Given the description of an element on the screen output the (x, y) to click on. 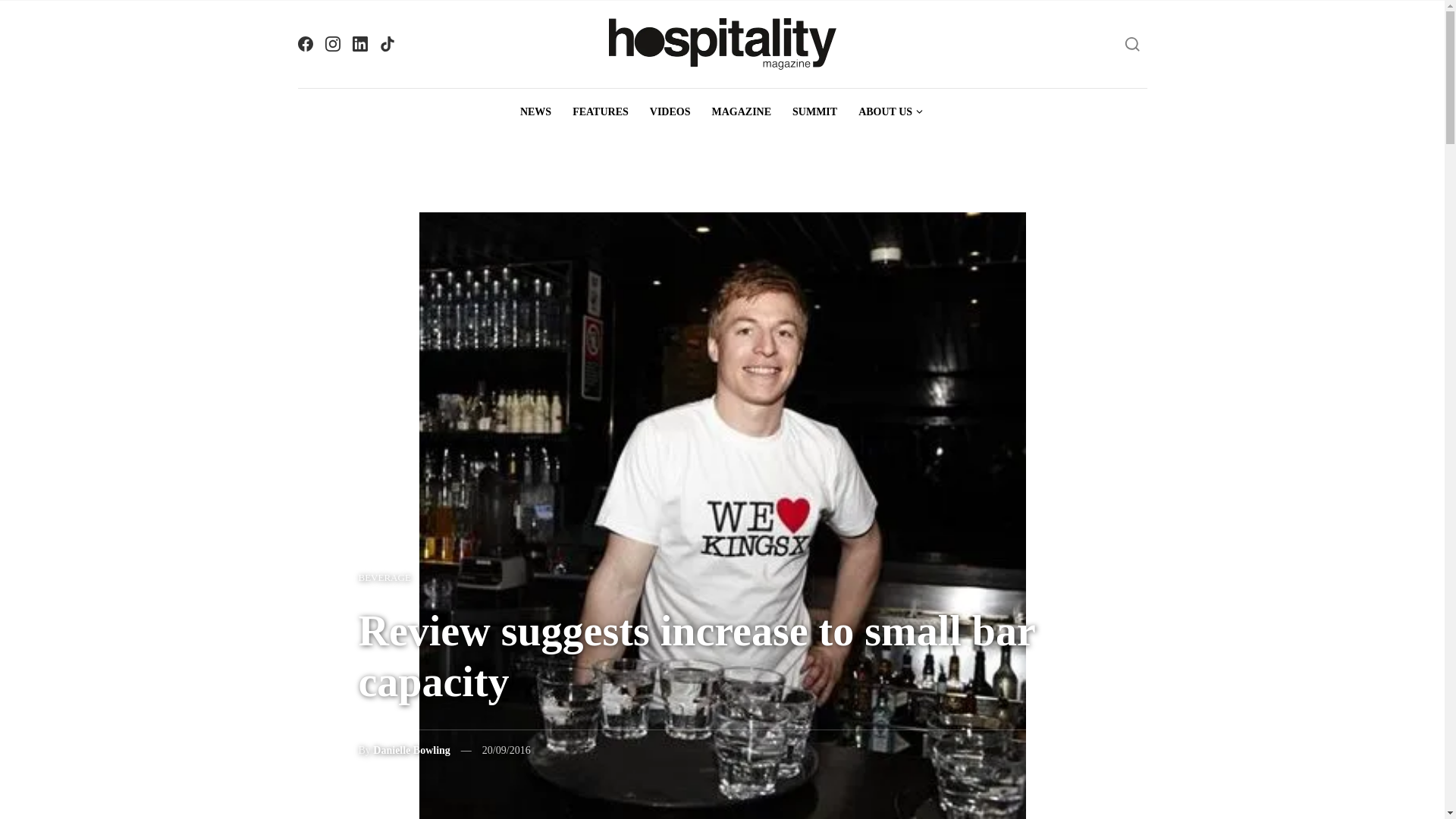
View all posts in Beverage (383, 577)
MAGAZINE (740, 111)
VIDEOS (670, 111)
BEVERAGE (383, 577)
ABOUT US (890, 111)
NEWS (535, 111)
FEATURES (600, 111)
Danielle Bowling (410, 749)
SUMMIT (814, 111)
